Given the description of an element on the screen output the (x, y) to click on. 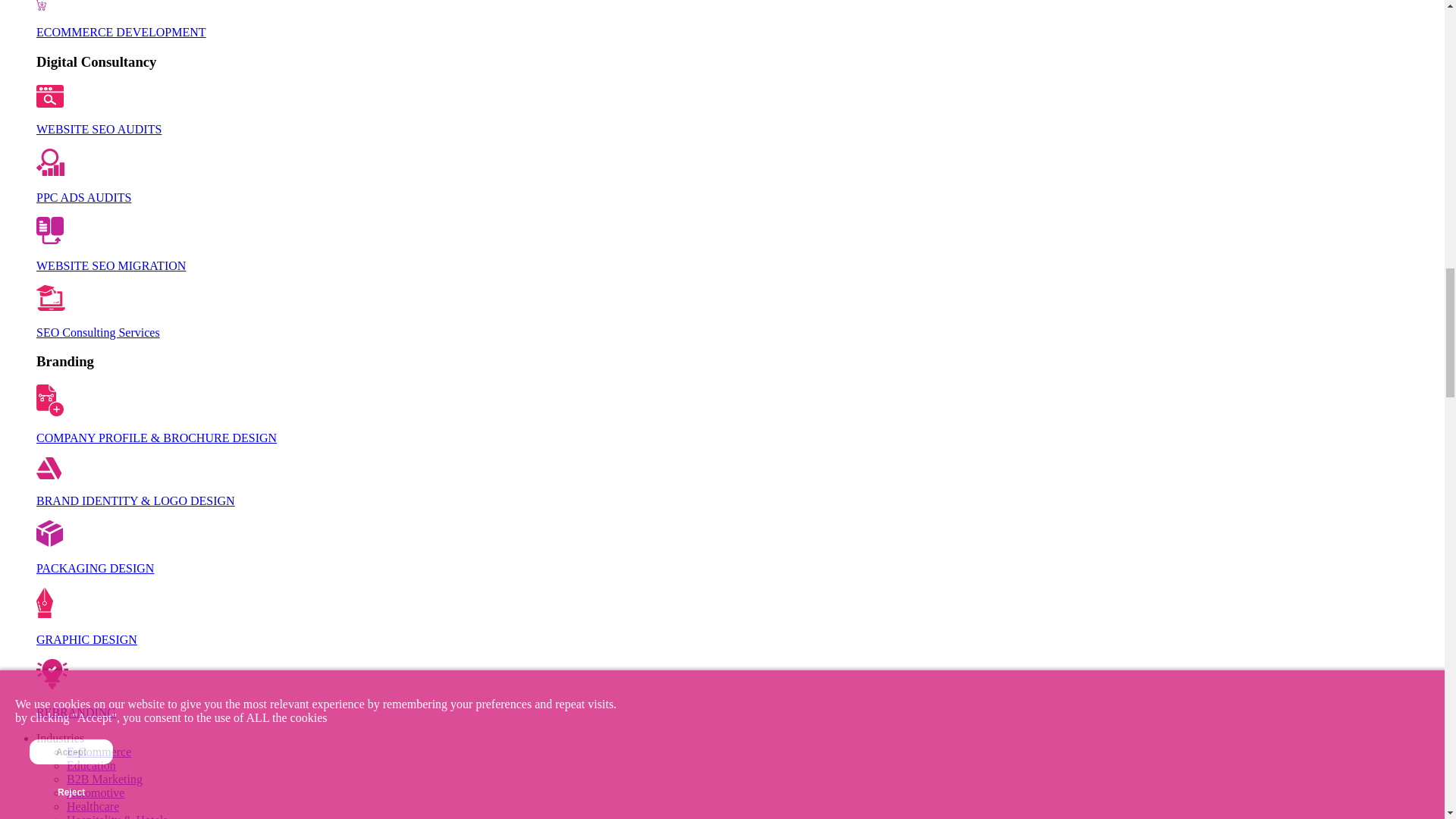
B2B Marketing (104, 779)
Industries (60, 738)
Education (91, 765)
Healthcare (92, 806)
Automotive (94, 792)
E-Commerce (98, 751)
